Given the description of an element on the screen output the (x, y) to click on. 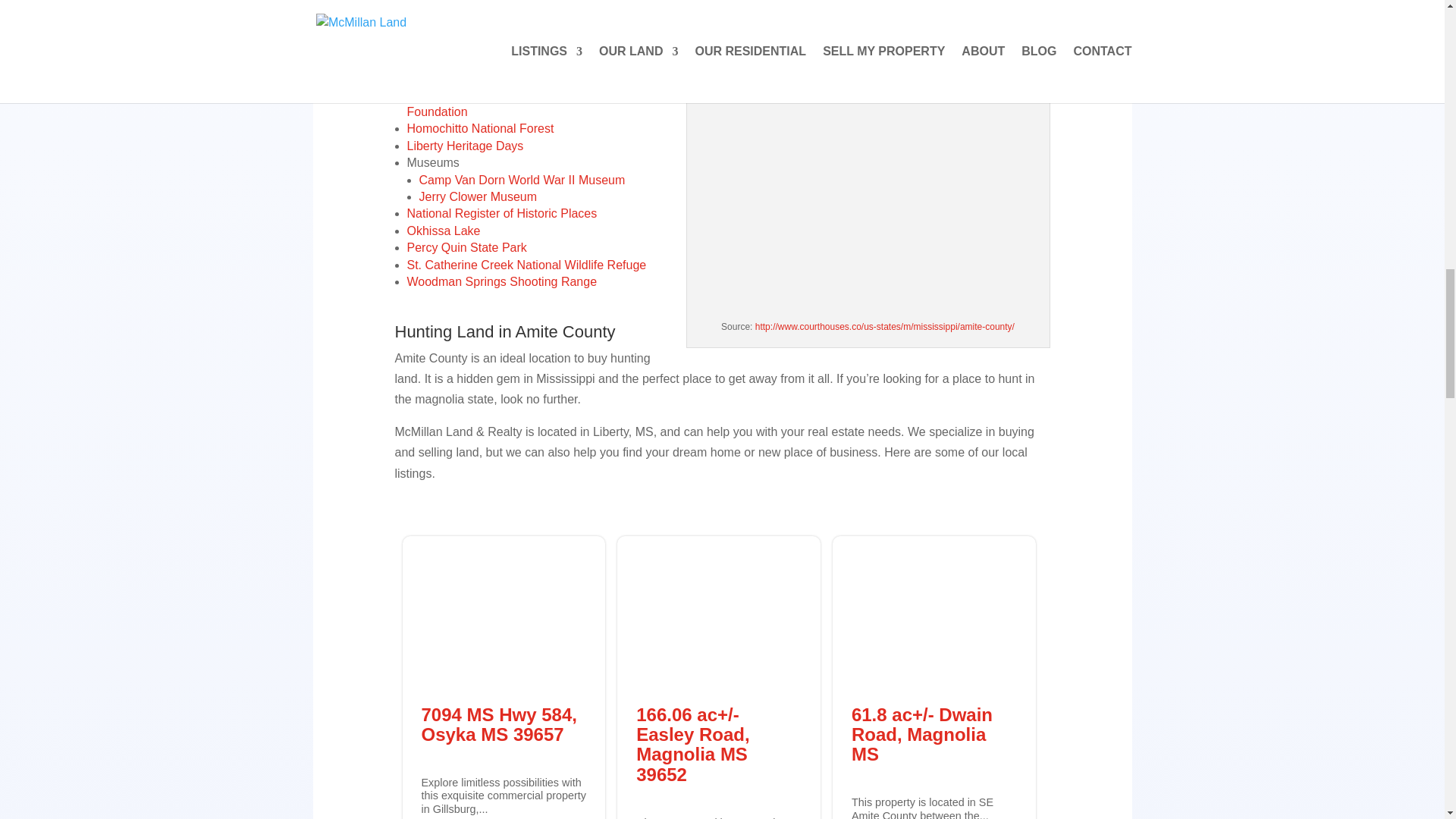
Brushy Creek Horse Trail (473, 26)
National Register of Historic Places (501, 213)
Percy Quin State Park (465, 246)
Clear Springs Recreation Area (488, 60)
Woodman Springs Shooting Range (501, 281)
St. Catherine Creek National Wildlife Refuge (526, 264)
Amite County website (477, 1)
Jerry Clower Museum (478, 196)
Camp Van Dorn World War II Museum (521, 179)
7094 MS Hwy 584, Osyka MS 39657 (499, 724)
Ethel Stratton Vance Natural Area (497, 77)
Okhissa Lake (443, 230)
Homochitto National Forest (479, 128)
Caston Creek Wildlife Management Area (516, 43)
Liberty Heritage Days (464, 145)
